Given the description of an element on the screen output the (x, y) to click on. 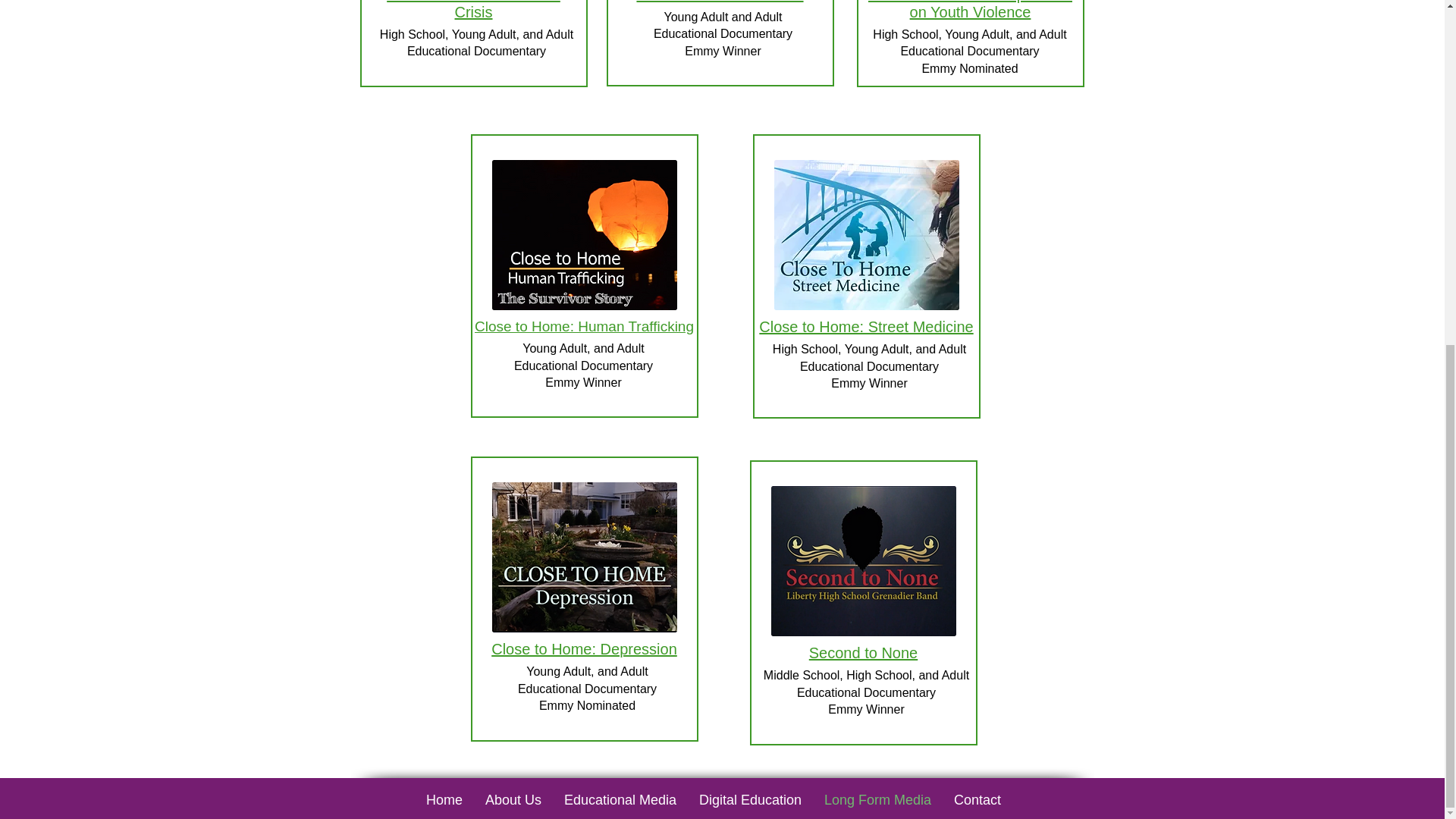
Give Me Shelter: Perspectives on Youth Violence (969, 10)
About Us (513, 799)
Select to learn more. (584, 234)
Educational Media (620, 799)
Close to Home: Depression (584, 648)
Give Me Shelter: Teens in Crisis (473, 10)
Select to learn more. (862, 561)
Contact (976, 799)
Digital Education (749, 799)
Select to learn more. (584, 557)
Select to learn more. (865, 234)
Close to Home: Street Medicine (865, 326)
Home (444, 799)
Long Form Media (877, 799)
Second to None (863, 652)
